Given the description of an element on the screen output the (x, y) to click on. 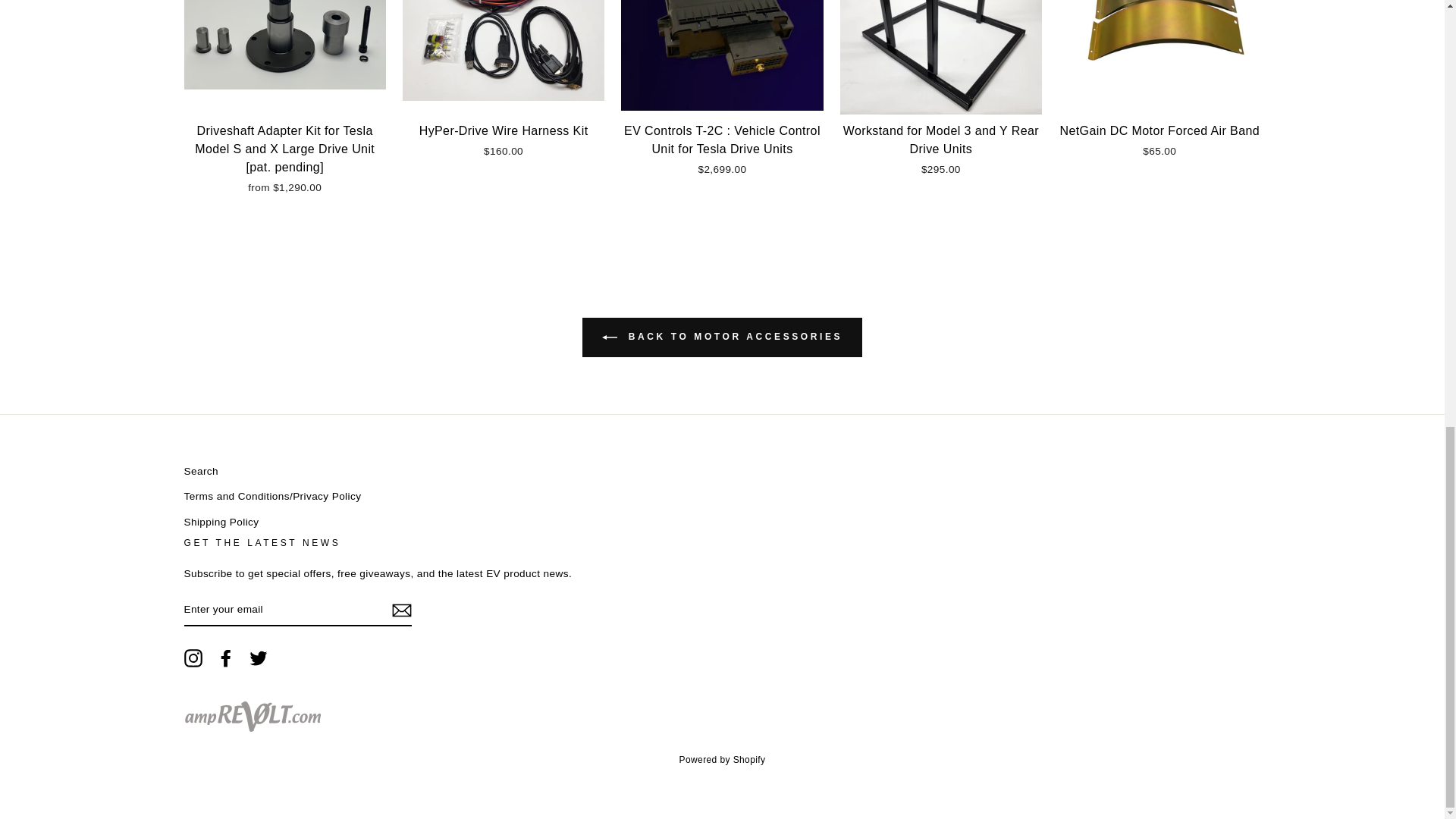
ampREVOLT on Facebook (225, 658)
ampREVOLT on Twitter (257, 658)
ampREVOLT on Instagram (192, 658)
